Given the description of an element on the screen output the (x, y) to click on. 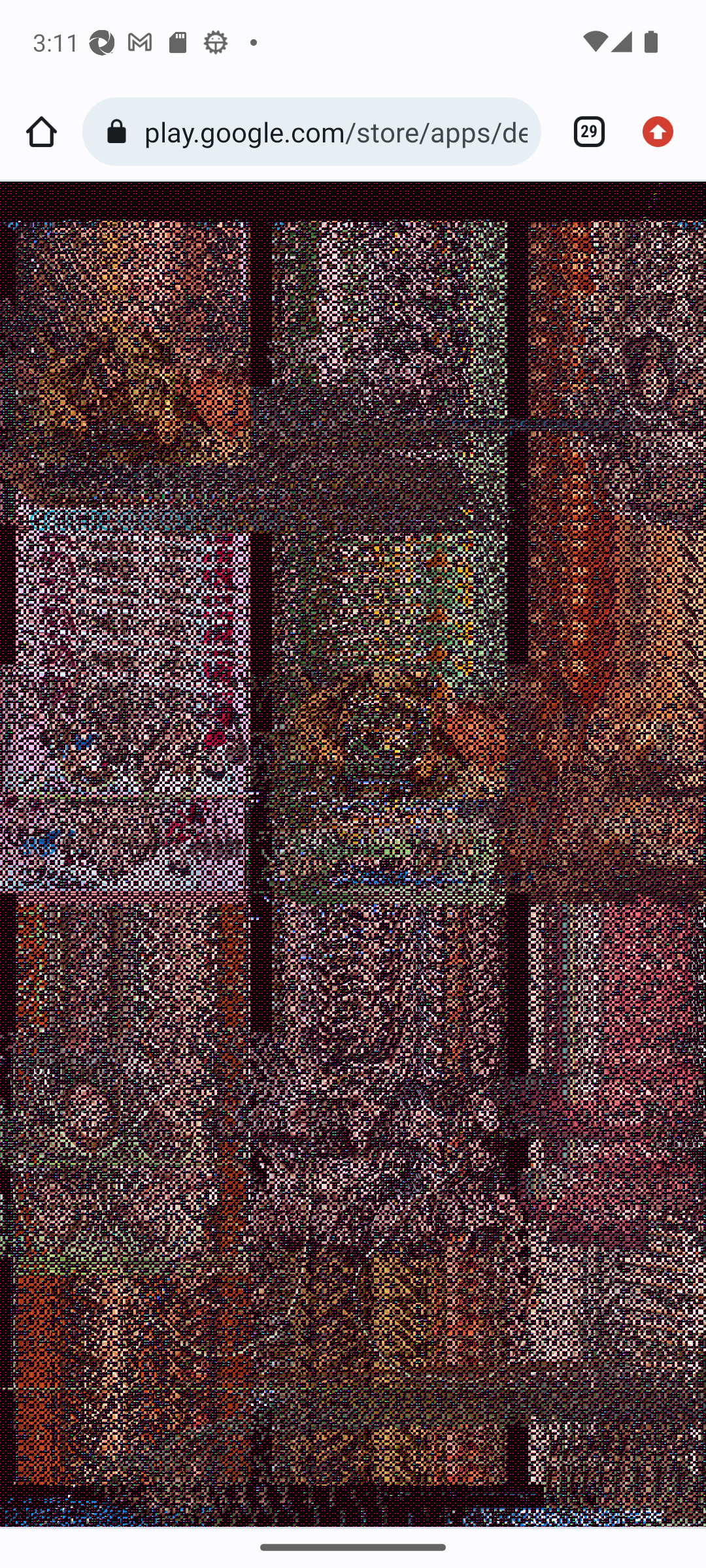
Home (41, 131)
Connection is secure (120, 131)
Switch or close tabs (582, 131)
Update available. More options (664, 131)
